Given the description of an element on the screen output the (x, y) to click on. 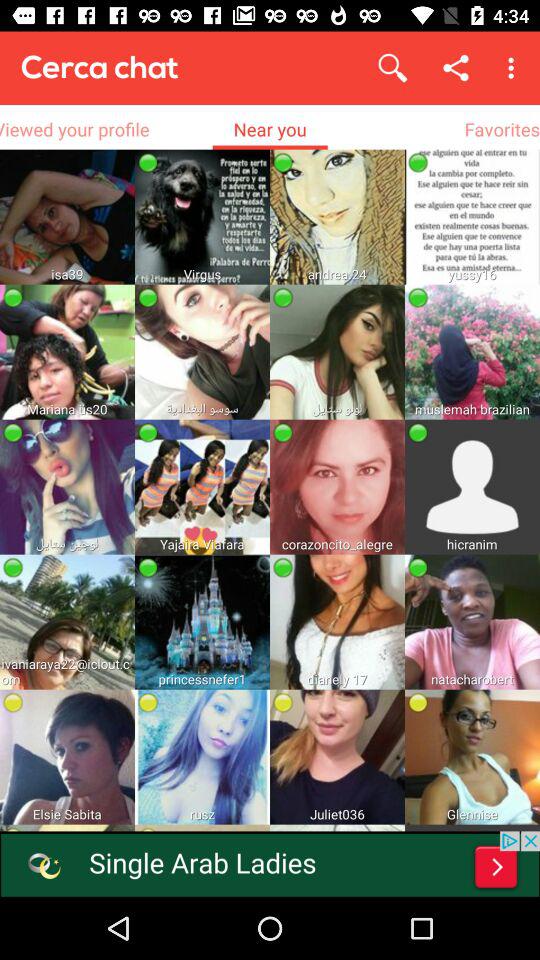
option right to near you (502, 129)
